Given the description of an element on the screen output the (x, y) to click on. 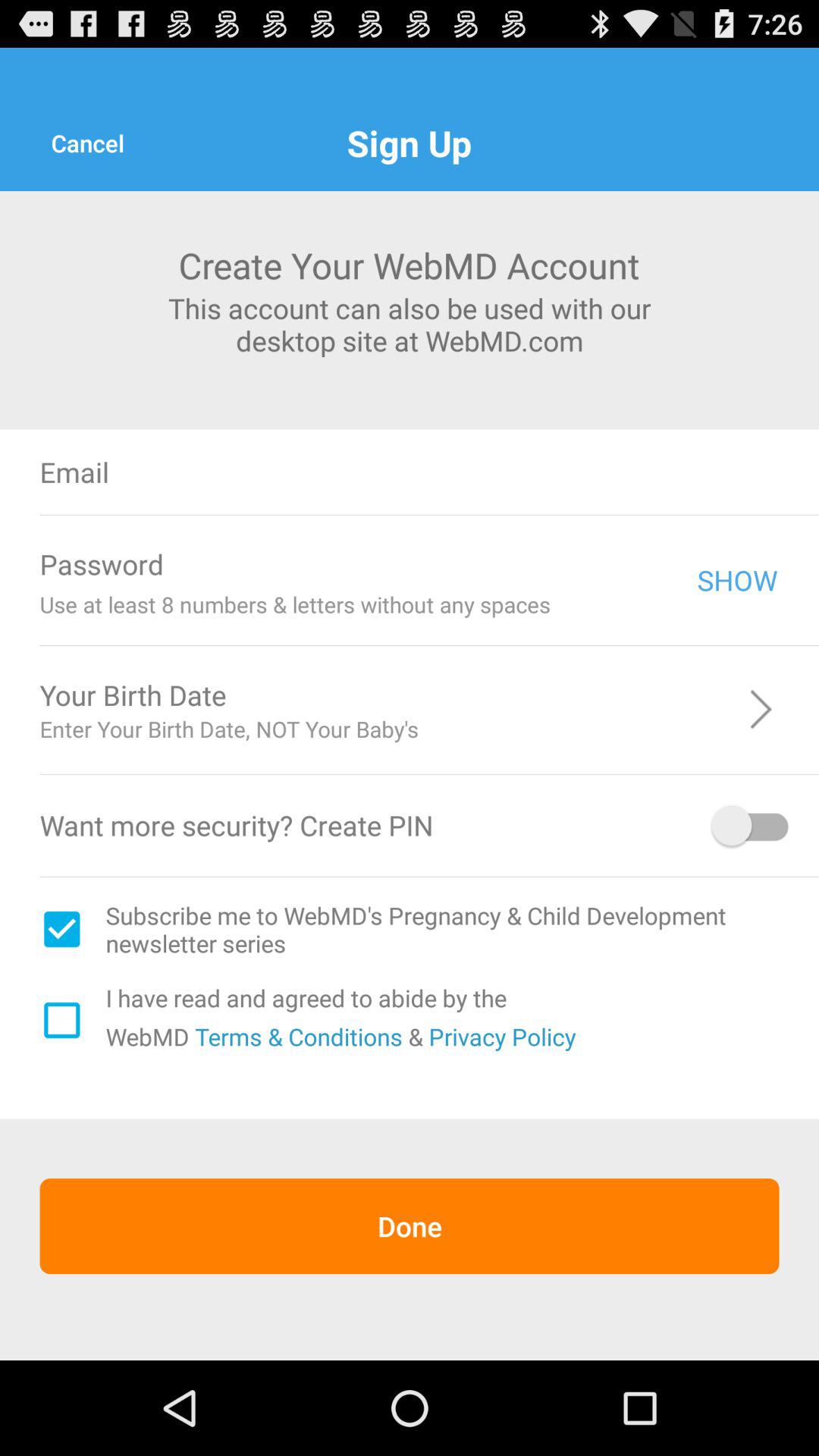
enter your passwords (439, 564)
